Given the description of an element on the screen output the (x, y) to click on. 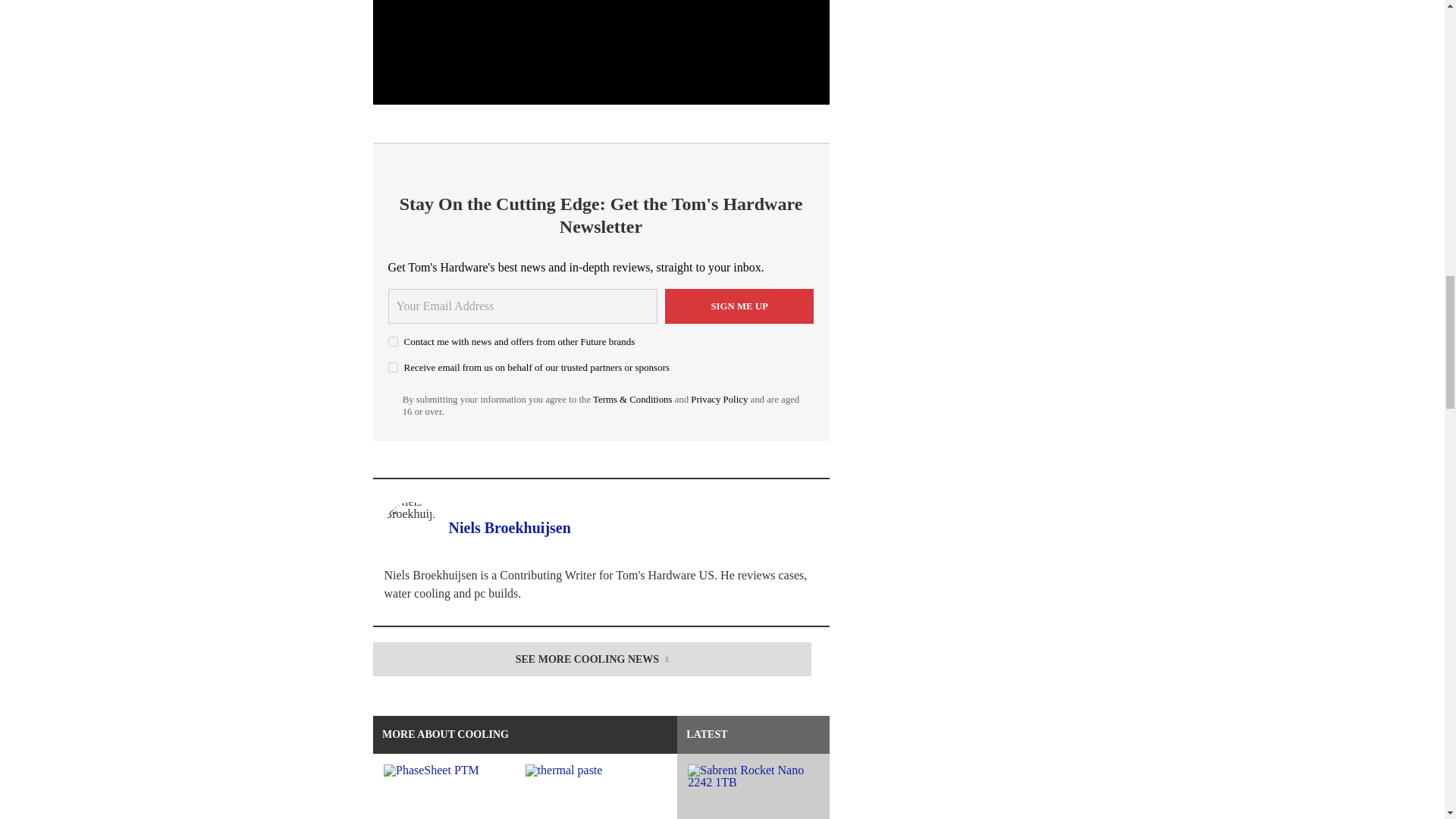
on (392, 367)
Sign me up (739, 306)
on (392, 341)
